Given the description of an element on the screen output the (x, y) to click on. 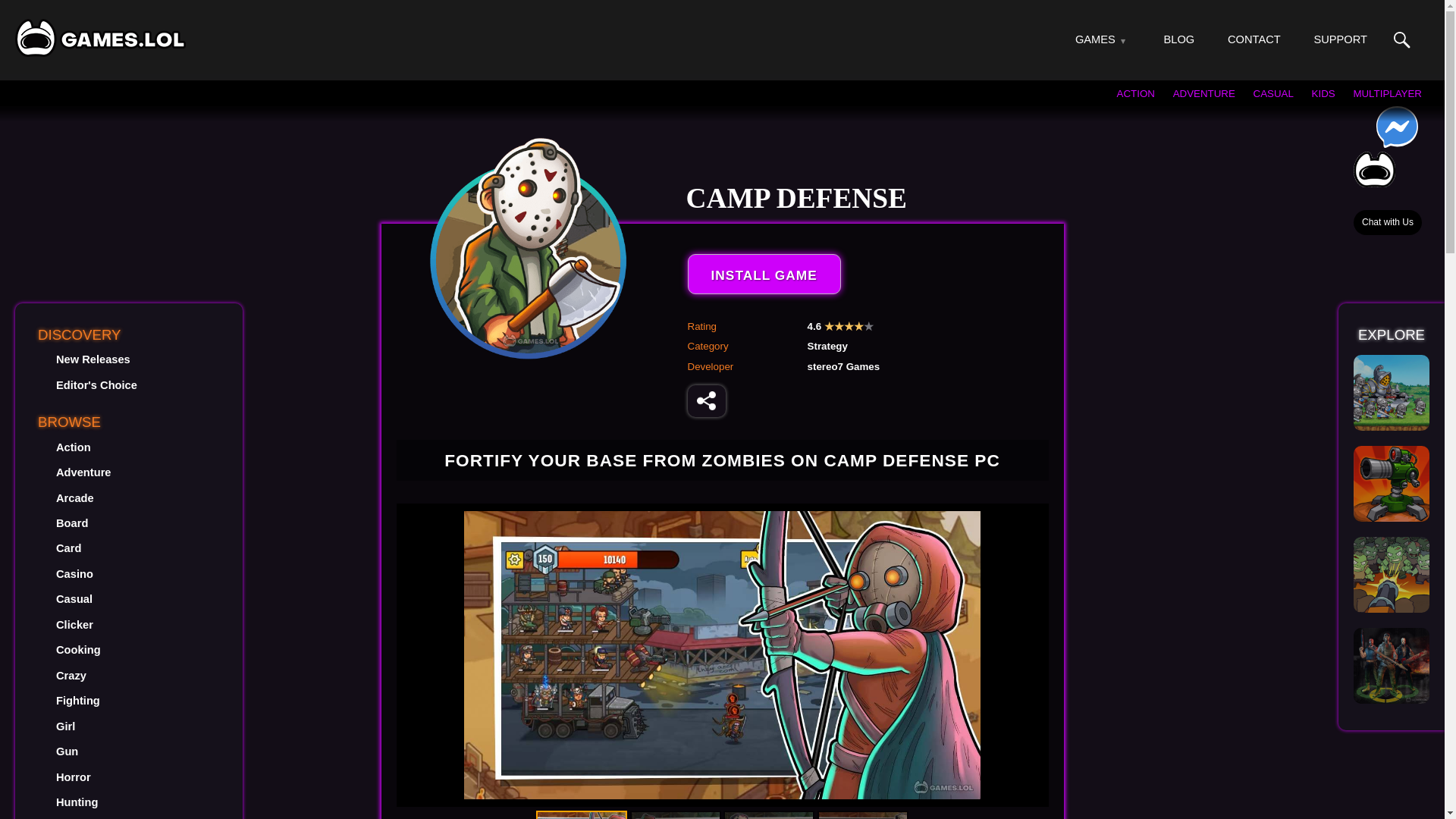
Play Tactical War: Tower Defense Game on PC (1391, 483)
ADVENTURE (1203, 93)
Adventure (83, 472)
Play Zombie Defense on PC (1391, 665)
Action (73, 447)
Games.lol free game download website logo (100, 37)
GAMES (1095, 39)
BLOG (1179, 39)
Play Zombie Idle Defense on PC (1391, 574)
MULTIPLAYER (1387, 93)
